Given the description of an element on the screen output the (x, y) to click on. 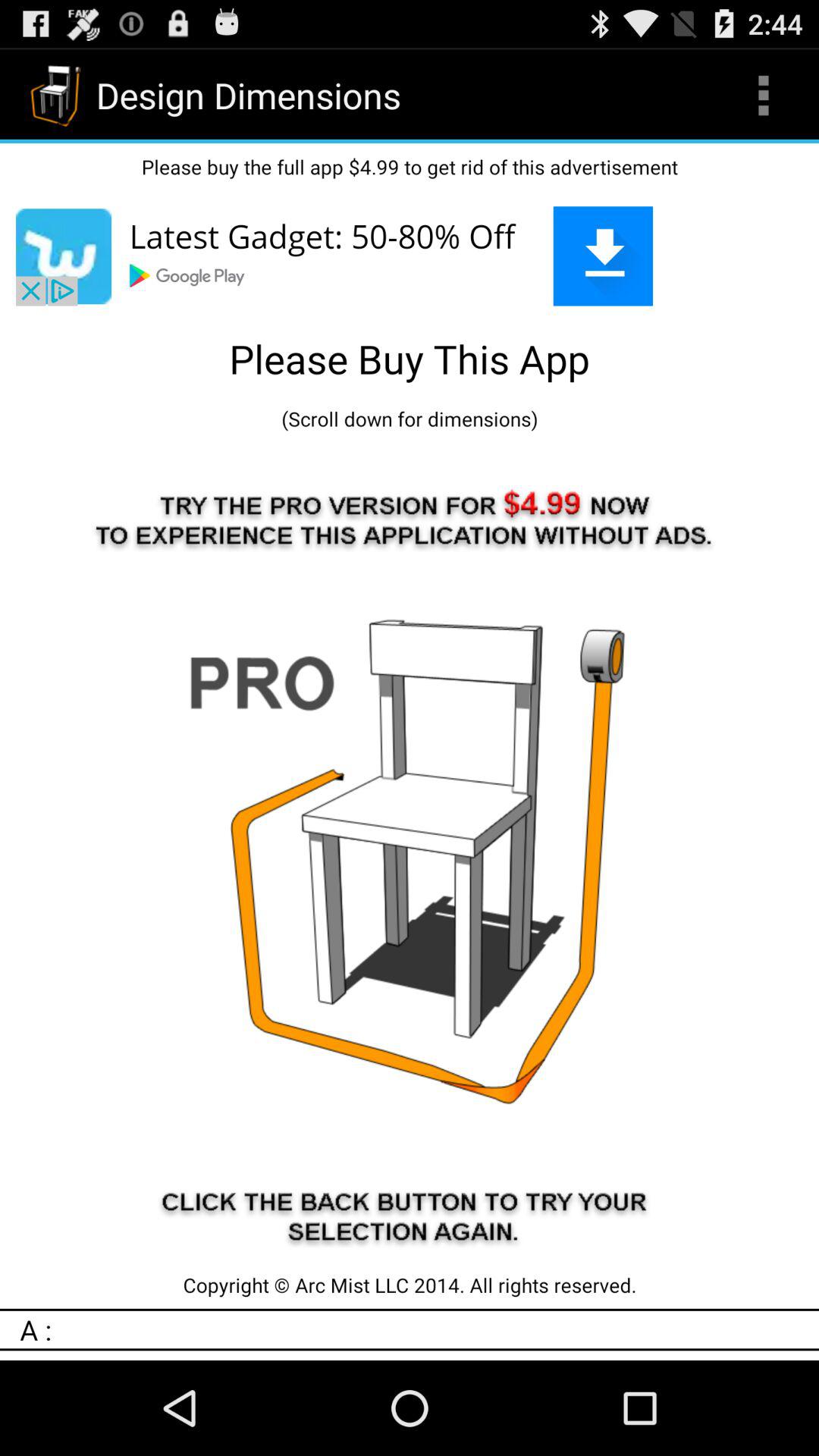
click the icon at the top right corner (763, 95)
